Given the description of an element on the screen output the (x, y) to click on. 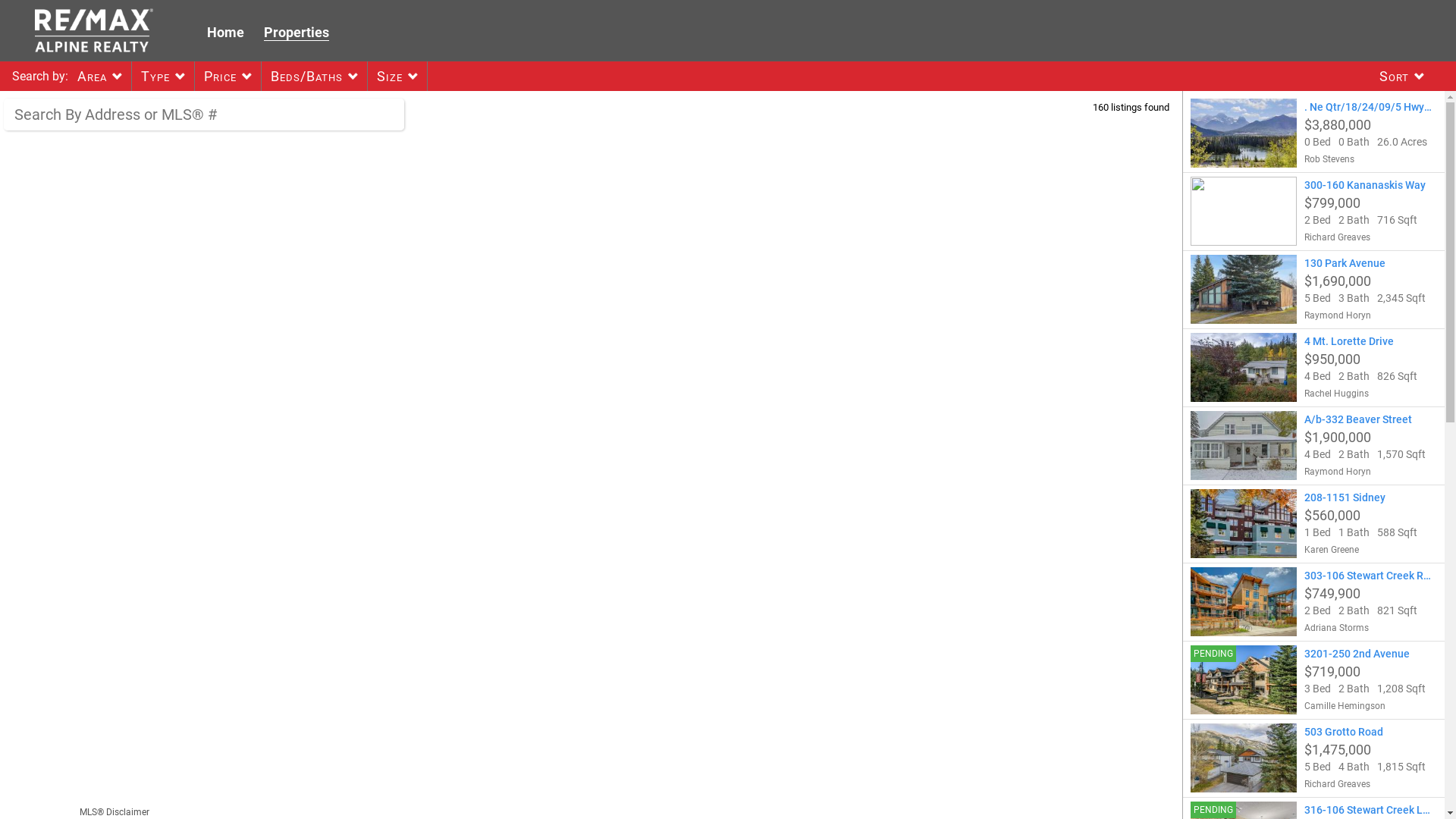
208-1151 Sidney
$560,000
1 Bed 1 Bath 588 Sqft
Karen Greene Element type: text (1313, 523)
Properties Element type: text (296, 32)
Area Element type: text (95, 76)
Price Element type: text (222, 76)
Home Element type: text (225, 32)
Type Element type: text (158, 76)
Size Element type: text (392, 76)
Beds/Baths Element type: text (309, 76)
Sort Element type: text (1397, 76)
